Given the description of an element on the screen output the (x, y) to click on. 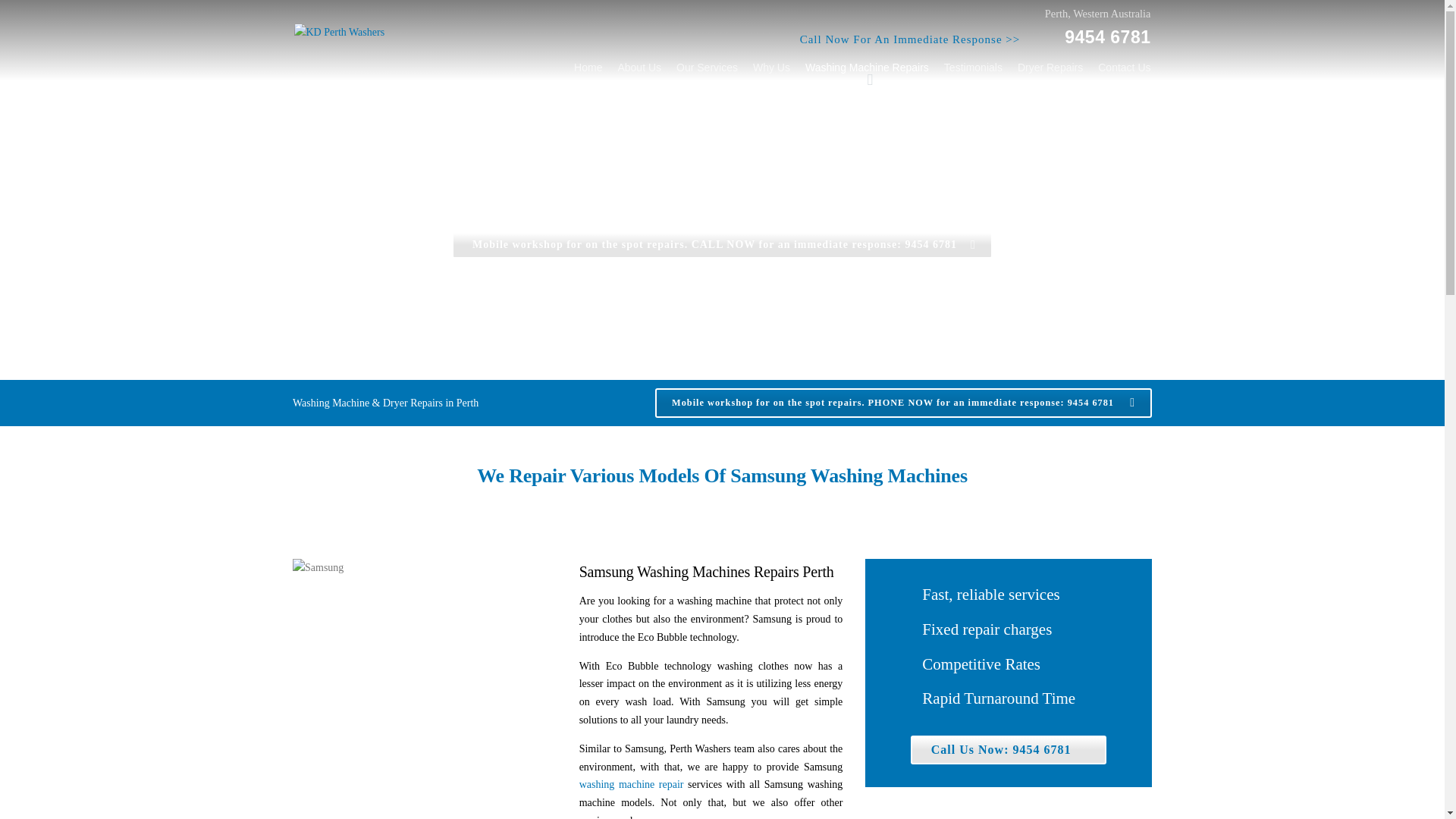
Washing Machine Repairs (660, 190)
Contact Us (1120, 71)
Home (588, 71)
About Us (639, 71)
Testimonials (973, 71)
Our Services (706, 71)
washing machine repair (631, 784)
Call Us Now: 9454 6781 (1008, 749)
Home (558, 190)
